Given the description of an element on the screen output the (x, y) to click on. 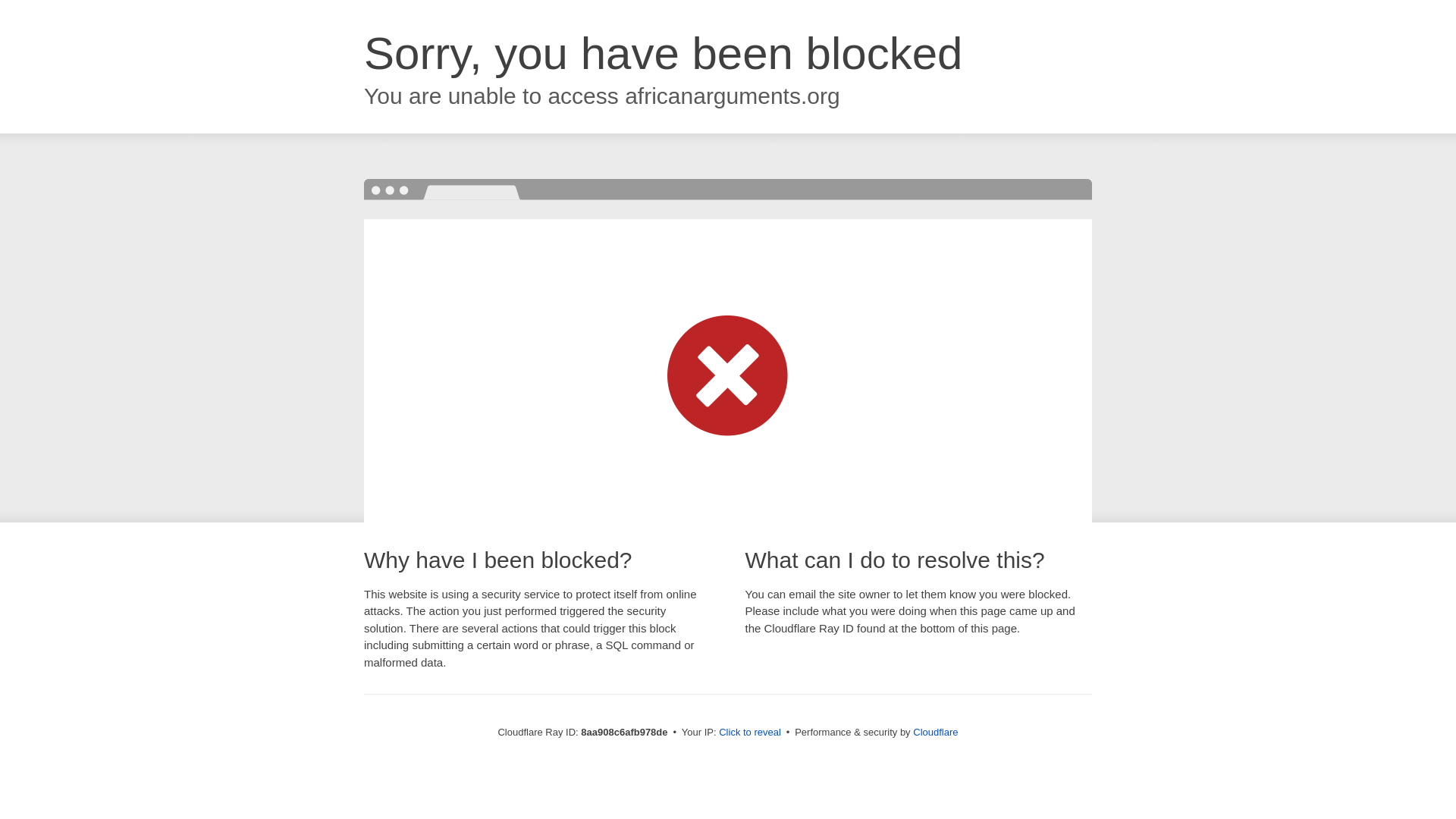
Click to reveal (749, 732)
Cloudflare (935, 731)
